Given the description of an element on the screen output the (x, y) to click on. 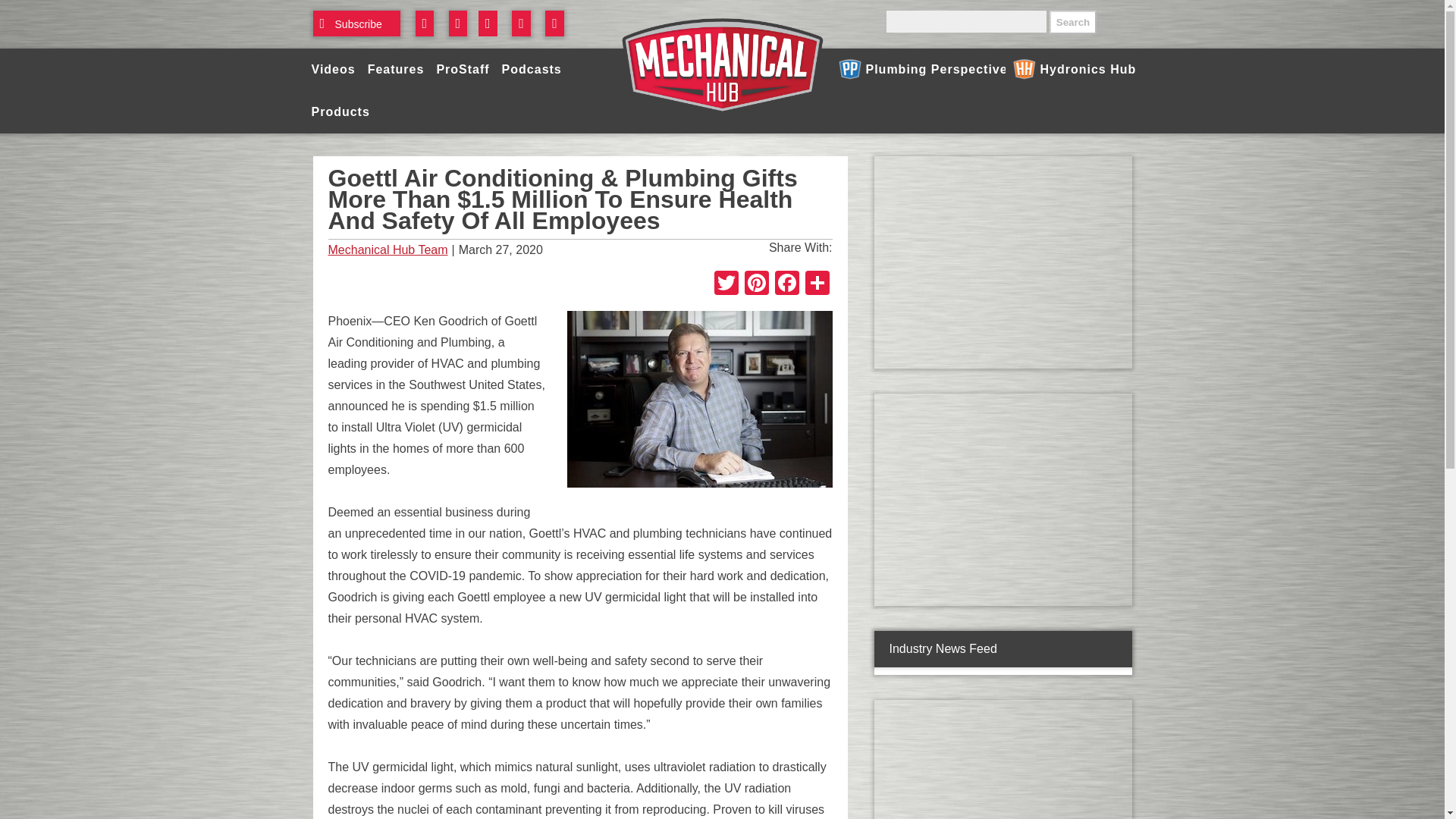
Twitter (726, 284)
Facebook (786, 284)
3rd party ad content (1002, 262)
Mechanical Hub Team (386, 250)
ProStaff (462, 69)
Search (1072, 22)
Facebook (786, 284)
visit the home page (722, 63)
Videos (332, 69)
Podcasts (531, 69)
